Given the description of an element on the screen output the (x, y) to click on. 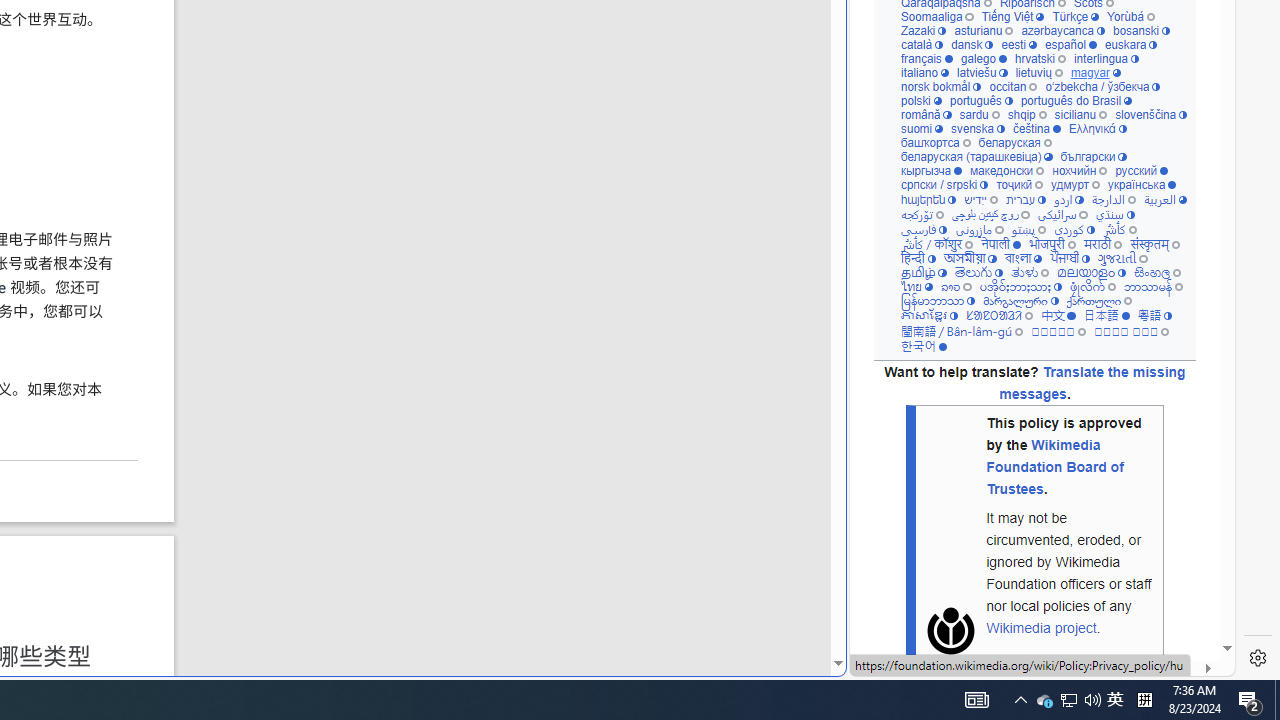
polski (920, 101)
sicilianu (1080, 115)
suomi (921, 128)
